Given the description of an element on the screen output the (x, y) to click on. 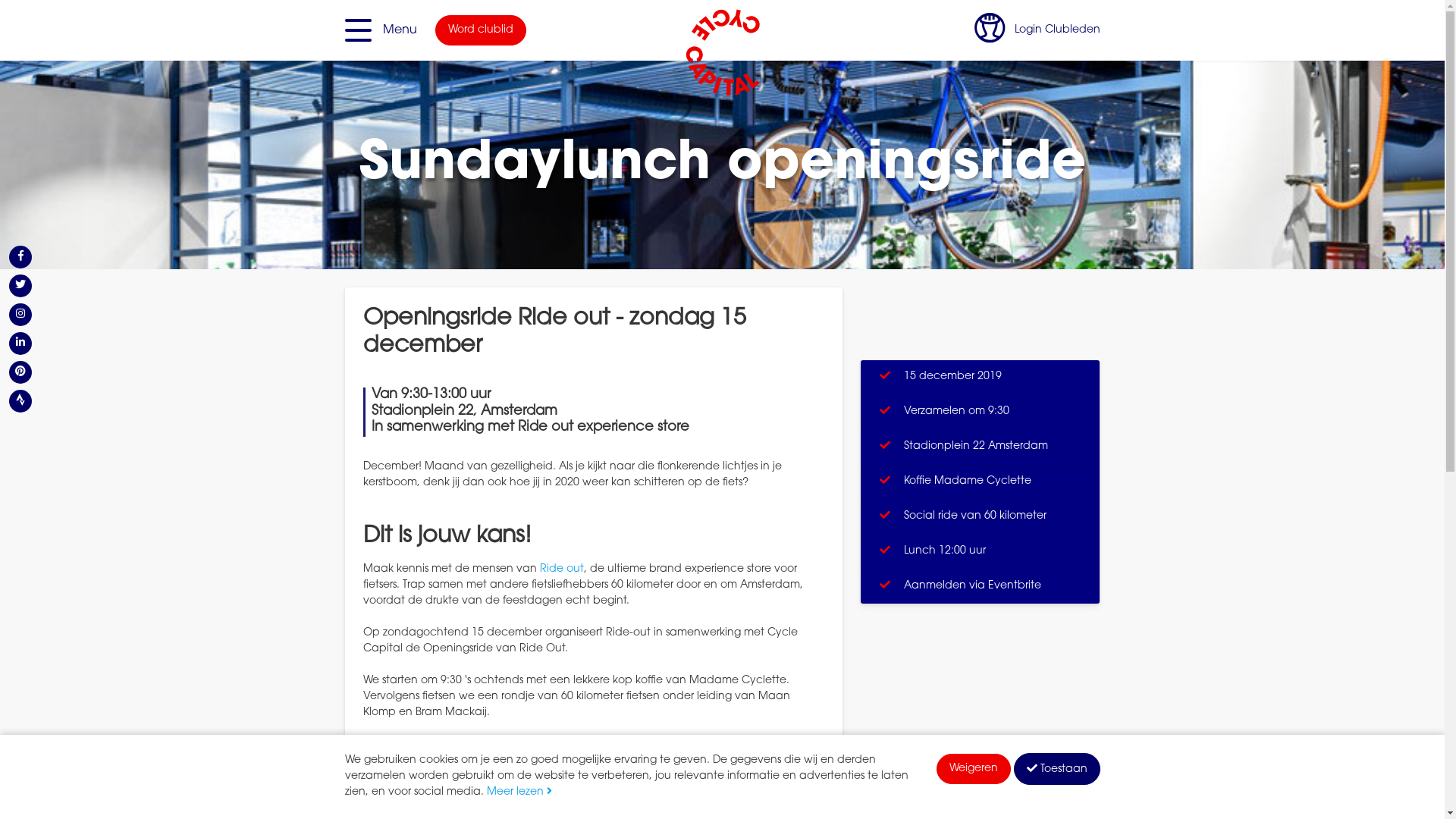
Ride out Element type: text (561, 569)
Word clublid Element type: text (480, 30)
Toestaan Element type: text (1056, 768)
Menu Element type: text (380, 29)
Strava icon Element type: text (20, 400)
Meer lezen Element type: text (519, 792)
Login Clubleden Element type: text (1036, 30)
Weigeren Element type: text (972, 768)
